Given the description of an element on the screen output the (x, y) to click on. 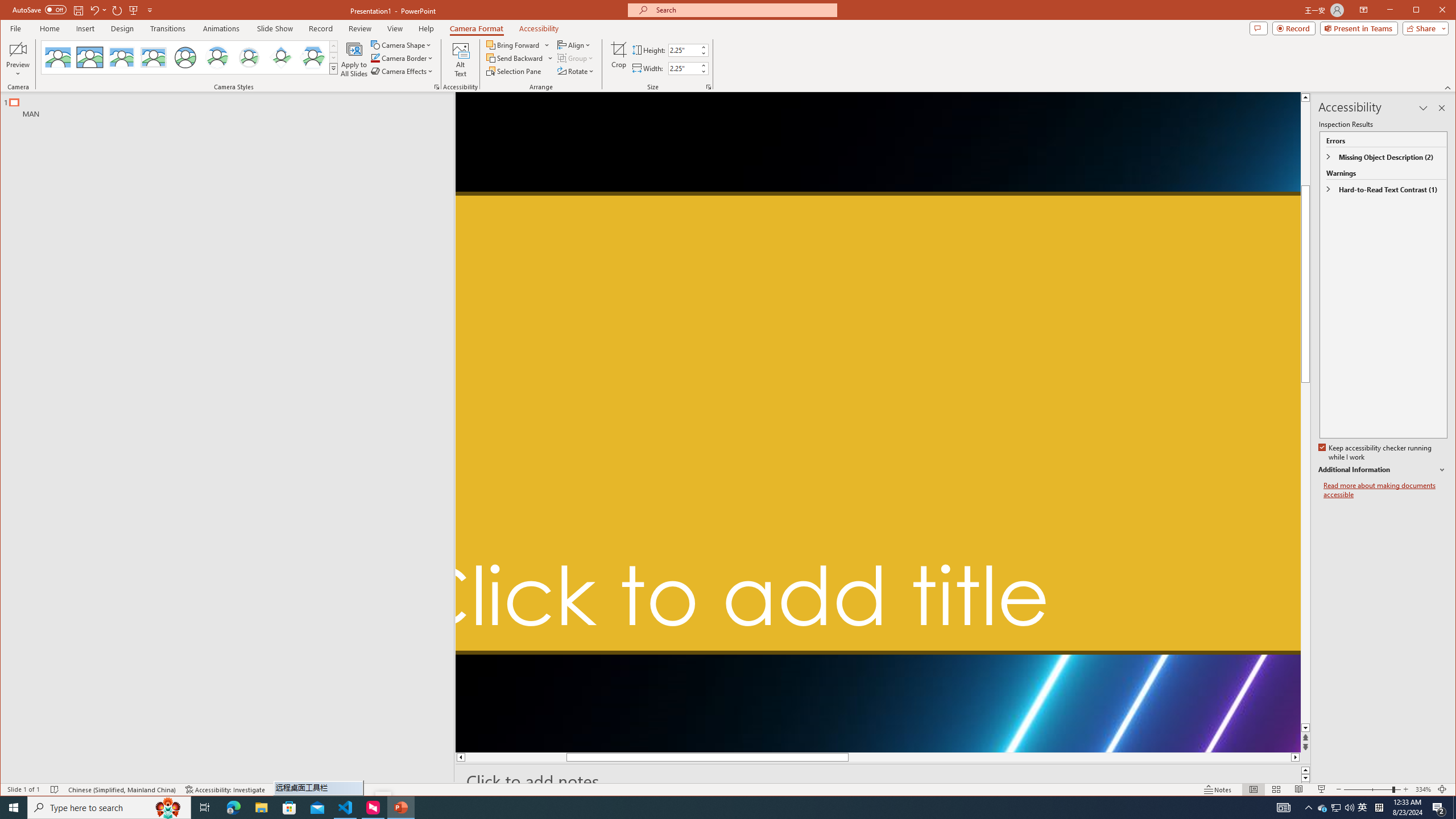
AutomationID: CameoStylesGallery (189, 57)
Zoom 334% (1422, 789)
Camera Border Blue, Accent 1 (375, 57)
Camera Shape (402, 44)
